Given the description of an element on the screen output the (x, y) to click on. 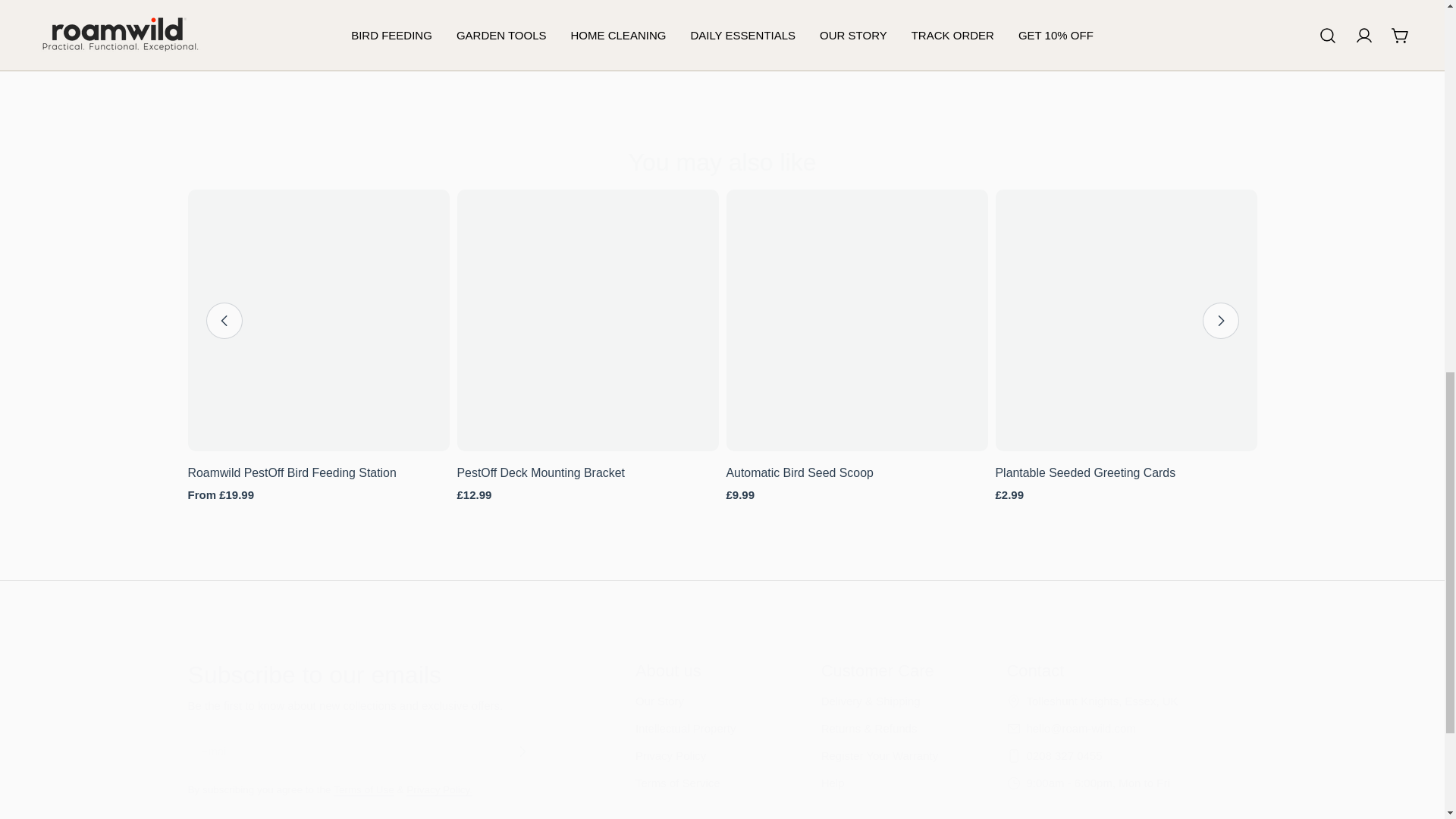
Roamwild PestOff Bird Feeding Station (291, 472)
Terms of Service (363, 789)
PestOff Deck Mounting Bracket (540, 472)
Privacy Policy (438, 789)
